Given the description of an element on the screen output the (x, y) to click on. 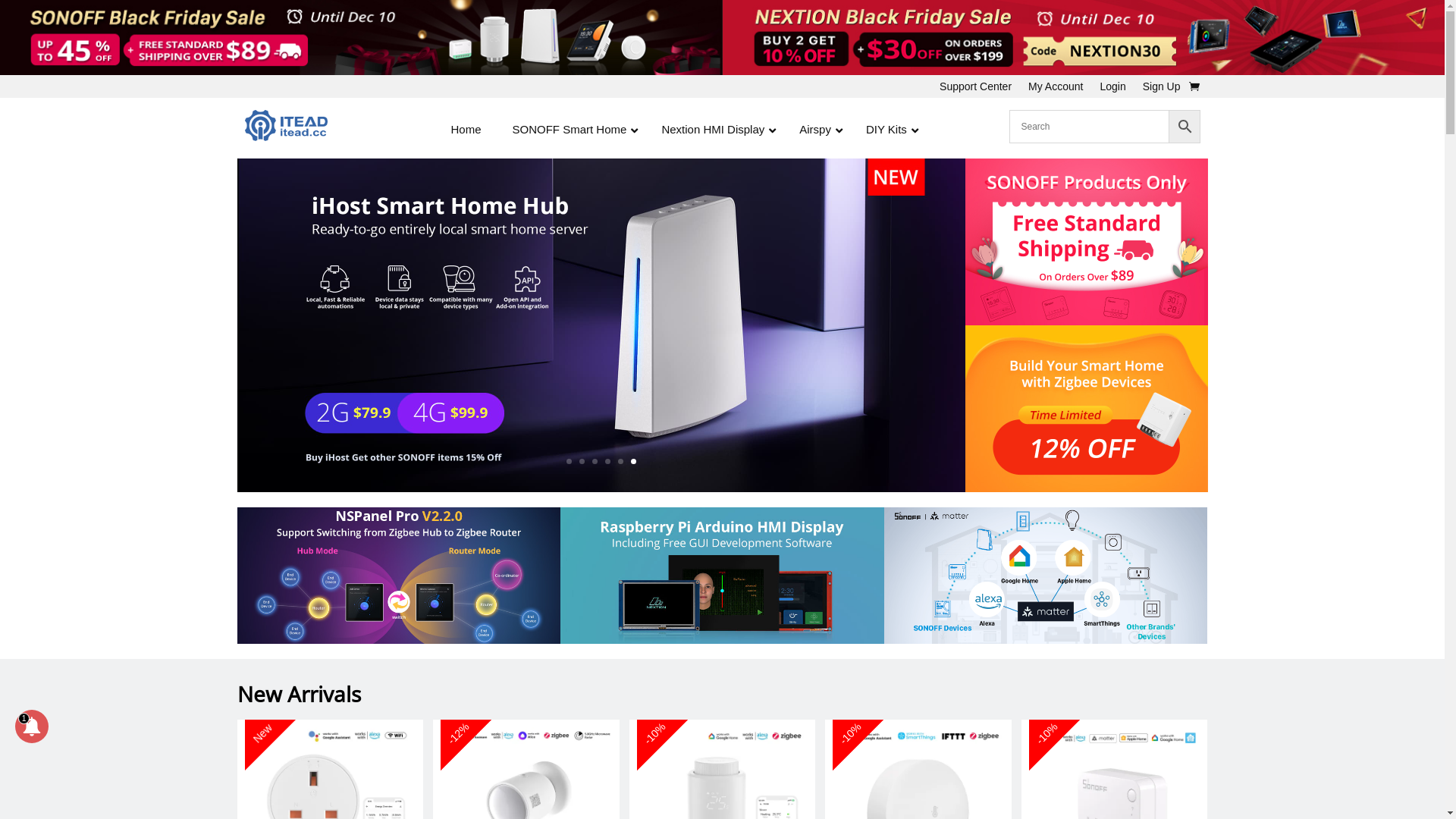
5 Element type: text (619, 461)
2 Element type: text (581, 461)
NEXTIONtopbanner_960x100px Element type: hover (1082, 37)
3 Element type: text (593, 461)
03-SONOFFtopbanner_960x100px Element type: hover (361, 37)
Login Element type: text (1112, 89)
4 Element type: text (607, 461)
SONOFF Smart Home Element type: text (571, 129)
6 Element type: text (633, 461)
1 Element type: text (568, 461)
Nextion HMI Display Element type: text (714, 129)
Support Center Element type: text (975, 89)
Home Element type: text (465, 129)
DIY Kits Element type: text (887, 129)
imalllogoNew (1) Element type: hover (285, 125)
Airspy Element type: text (816, 129)
My Account Element type: text (1055, 89)
Sign Up Element type: text (1161, 89)
